Given the description of an element on the screen output the (x, y) to click on. 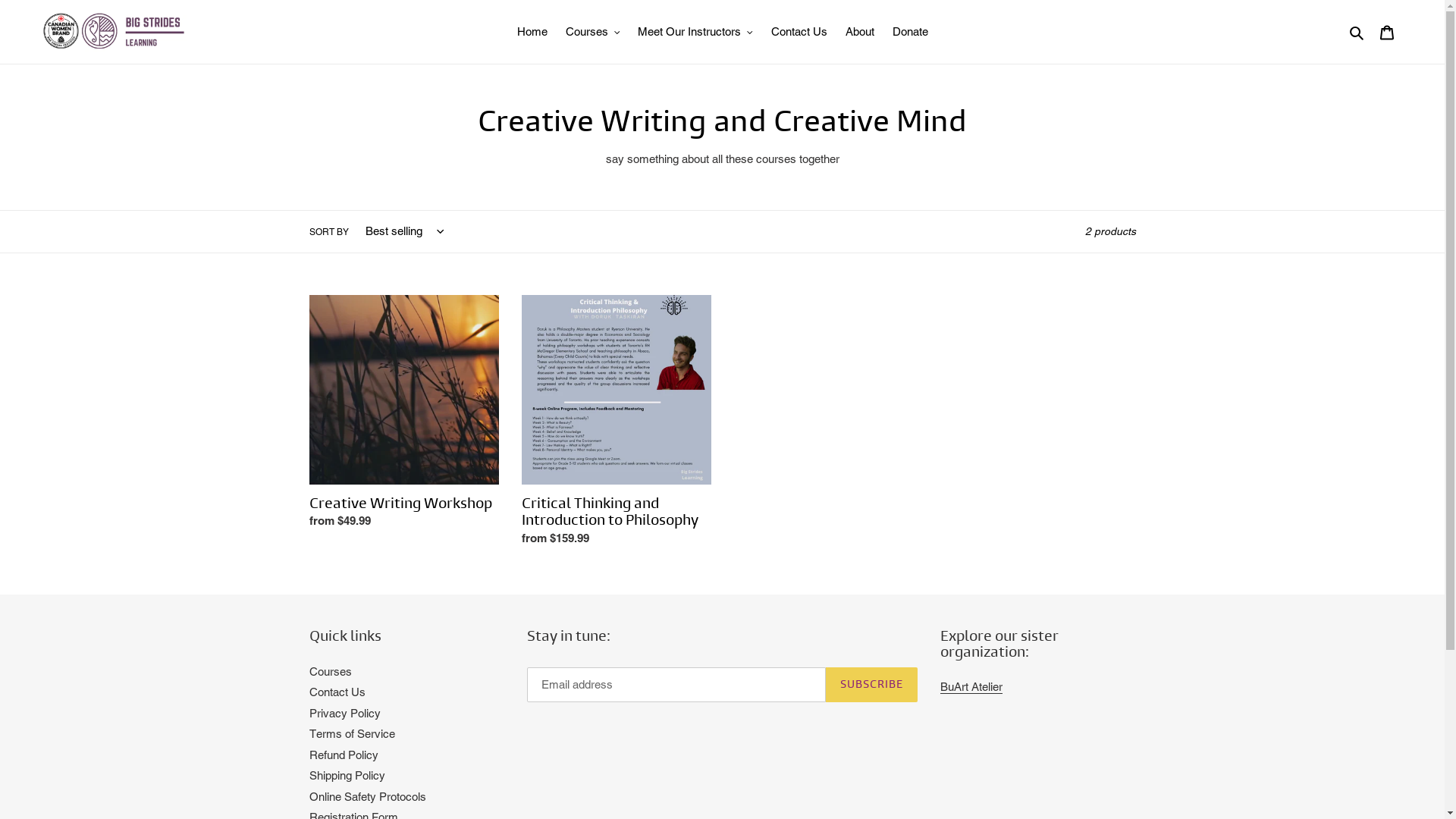
Cart Element type: text (1386, 31)
Meet Our Instructors Element type: text (695, 32)
About Element type: text (859, 32)
Privacy Policy Element type: text (344, 712)
Home Element type: text (532, 32)
Refund Policy Element type: text (343, 754)
Courses Element type: text (330, 671)
Search Element type: text (1357, 31)
Creative Writing Workshop Element type: text (403, 415)
BuArt Atelier Element type: text (971, 686)
Online Safety Protocols Element type: text (367, 796)
Contact Us Element type: text (798, 32)
Shipping Policy Element type: text (347, 774)
Courses Element type: text (592, 32)
Contact Us Element type: text (337, 691)
Critical Thinking and Introduction to Philosophy Element type: text (616, 423)
Terms of Service Element type: text (352, 733)
Donate Element type: text (909, 32)
SUBSCRIBE Element type: text (871, 684)
